Given the description of an element on the screen output the (x, y) to click on. 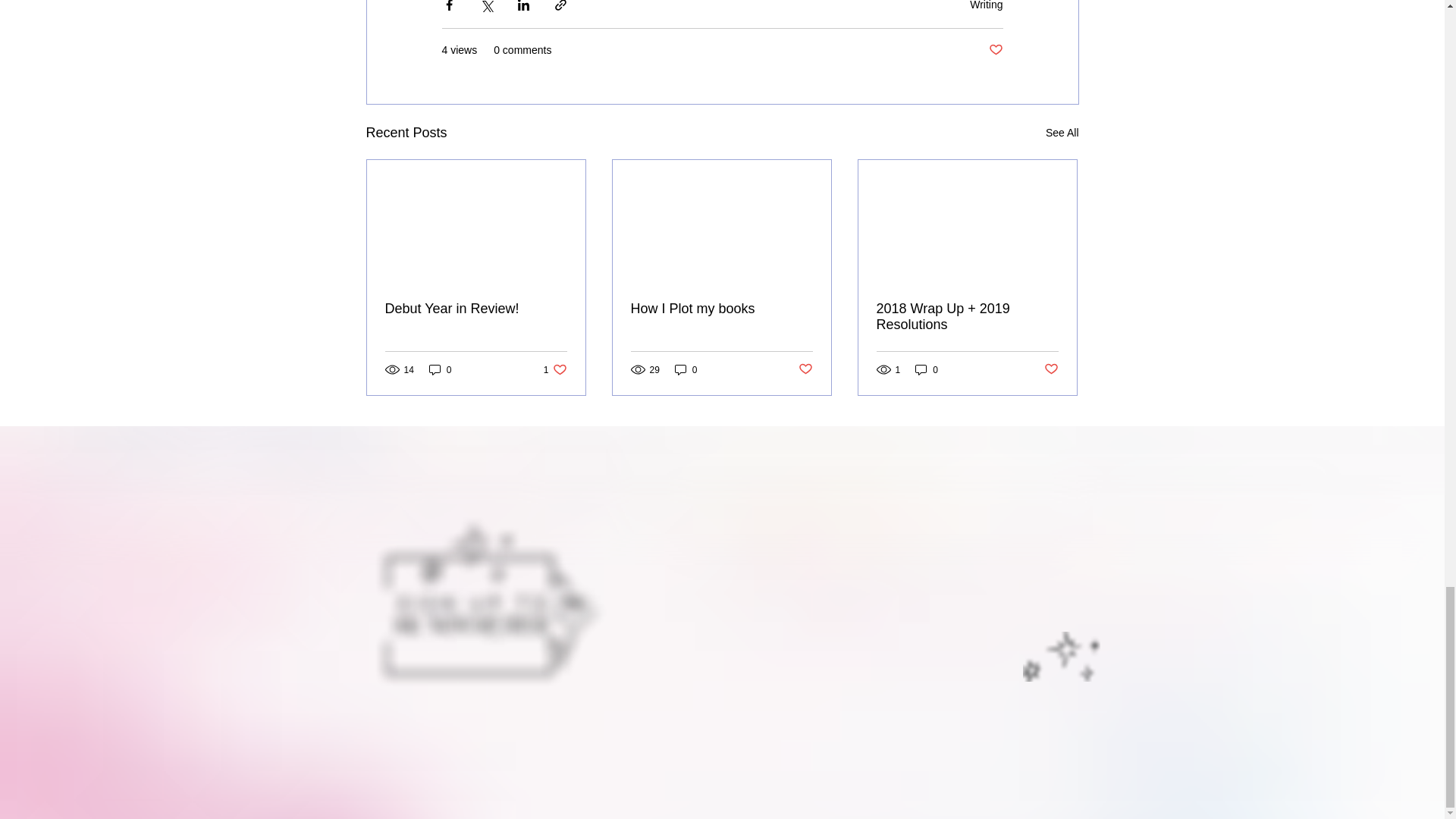
How I Plot my books (721, 308)
Post not marked as liked (995, 50)
Debut Year in Review! (476, 308)
0 (926, 369)
0 (440, 369)
0 (685, 369)
Writing (986, 5)
See All (1061, 133)
Post not marked as liked (555, 369)
Post not marked as liked (1050, 369)
